Given the description of an element on the screen output the (x, y) to click on. 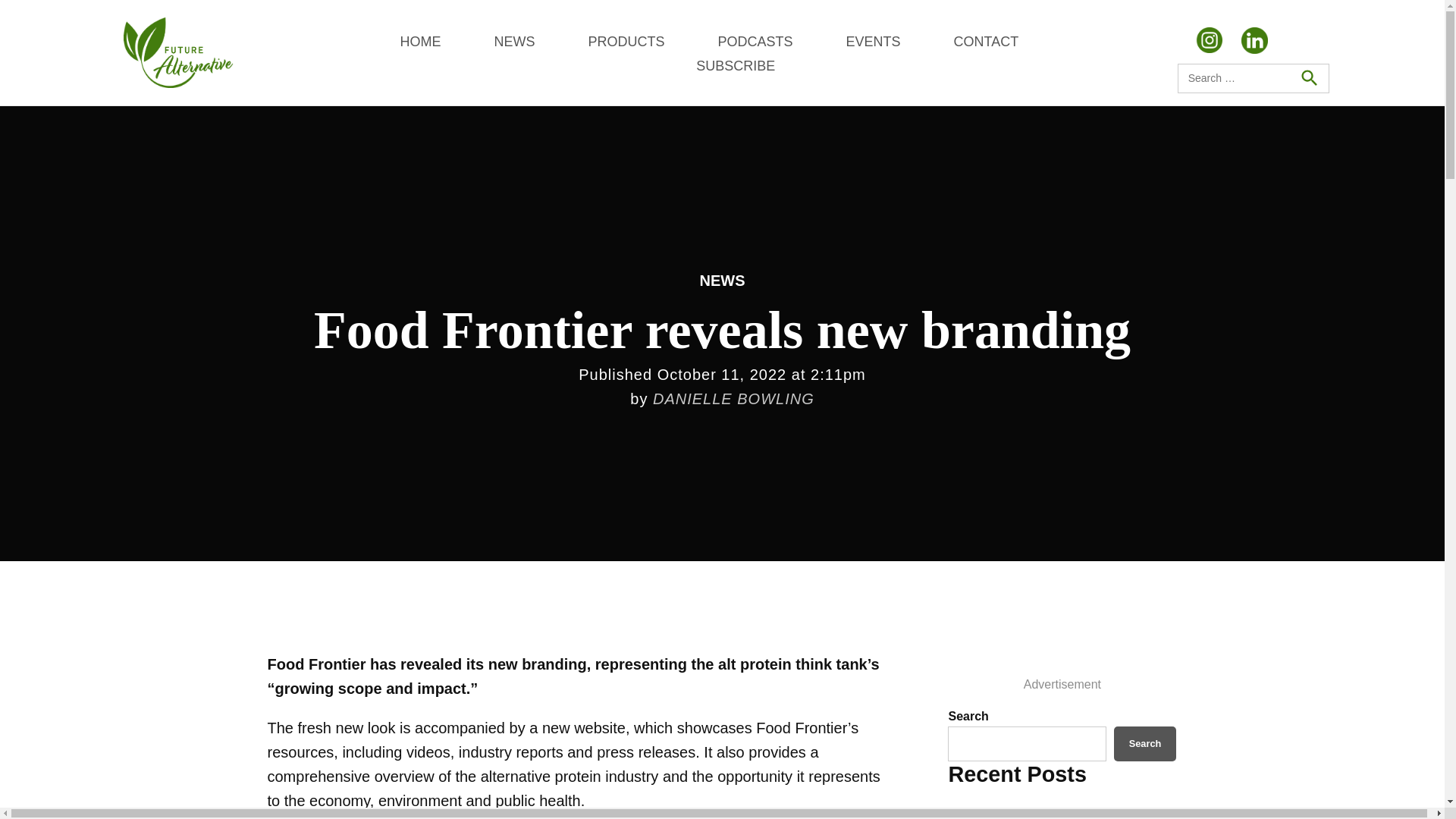
SUBSCRIBE (734, 64)
EVENTS (872, 40)
NEWS (513, 40)
HOME (419, 40)
Search (1308, 78)
PRODUCTS (625, 40)
Search (1144, 743)
NEWS (721, 280)
POSTS BY DANIELLE BOWLING (732, 398)
PODCASTS (754, 40)
